Given the description of an element on the screen output the (x, y) to click on. 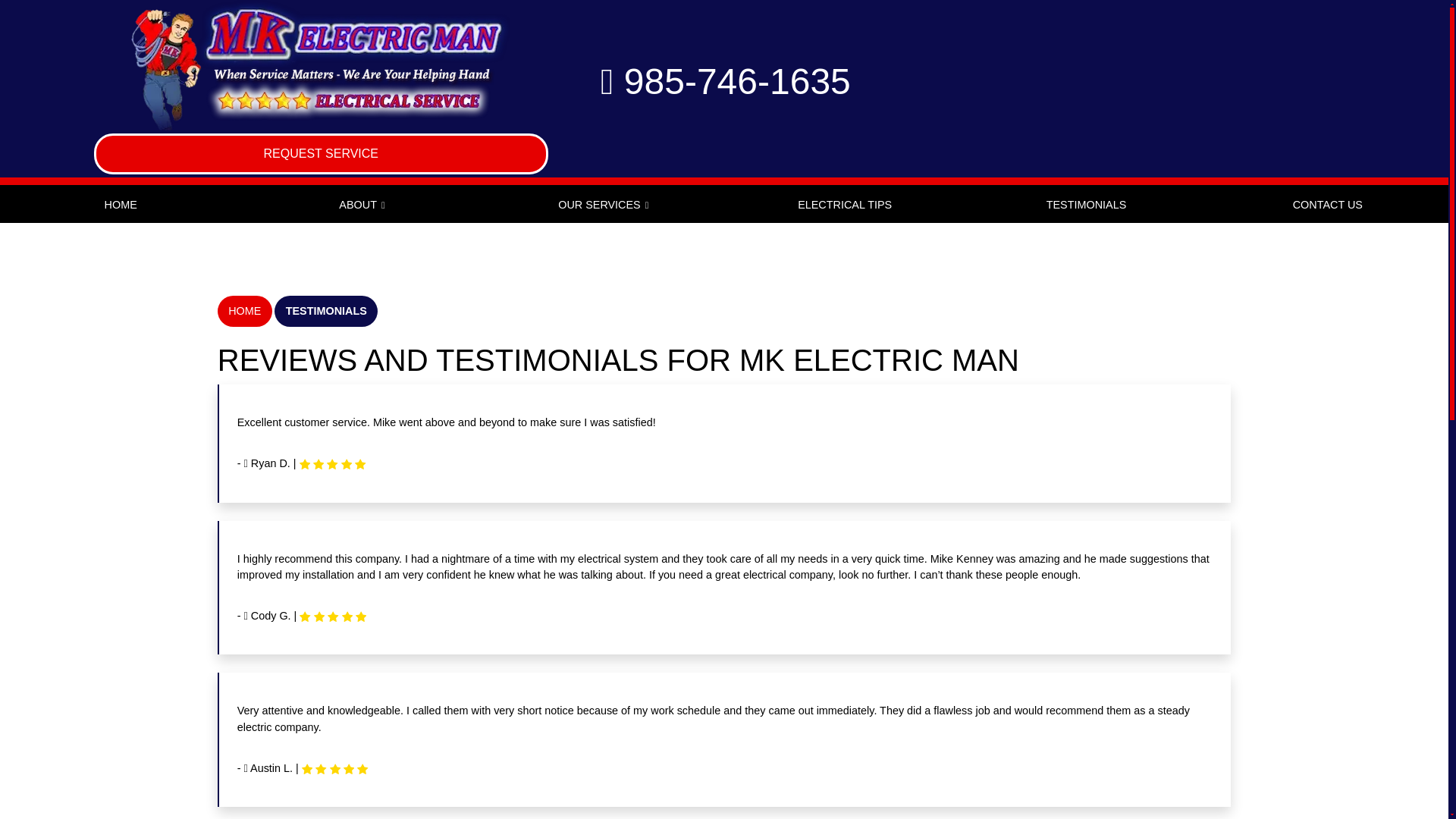
REQUEST SERVICE (321, 153)
985-746-1635 (724, 81)
